Given the description of an element on the screen output the (x, y) to click on. 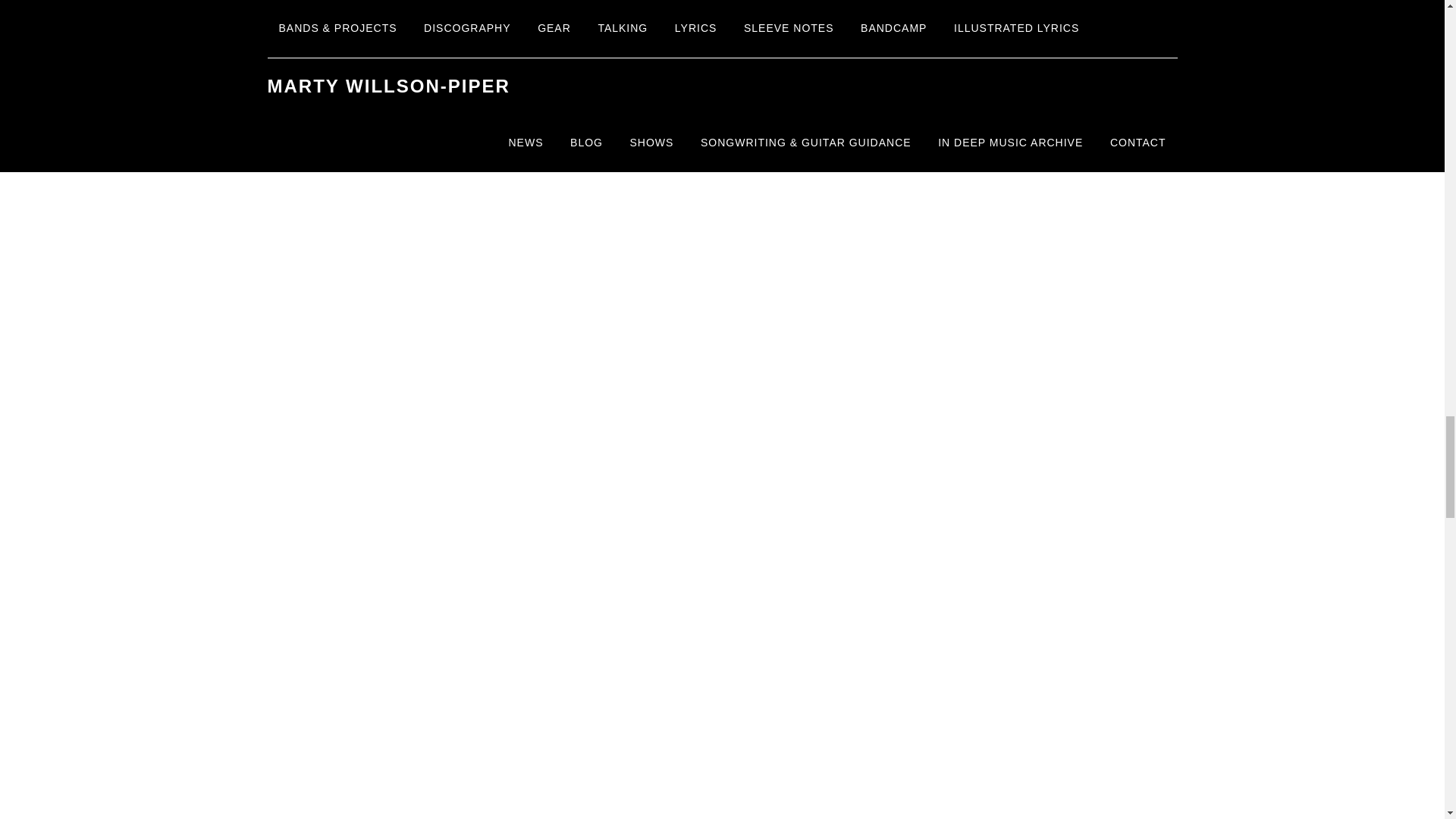
YouTube video player (532, 425)
YouTube video player (532, 670)
YouTube video player (532, 807)
YouTube video player (532, 180)
